Given the description of an element on the screen output the (x, y) to click on. 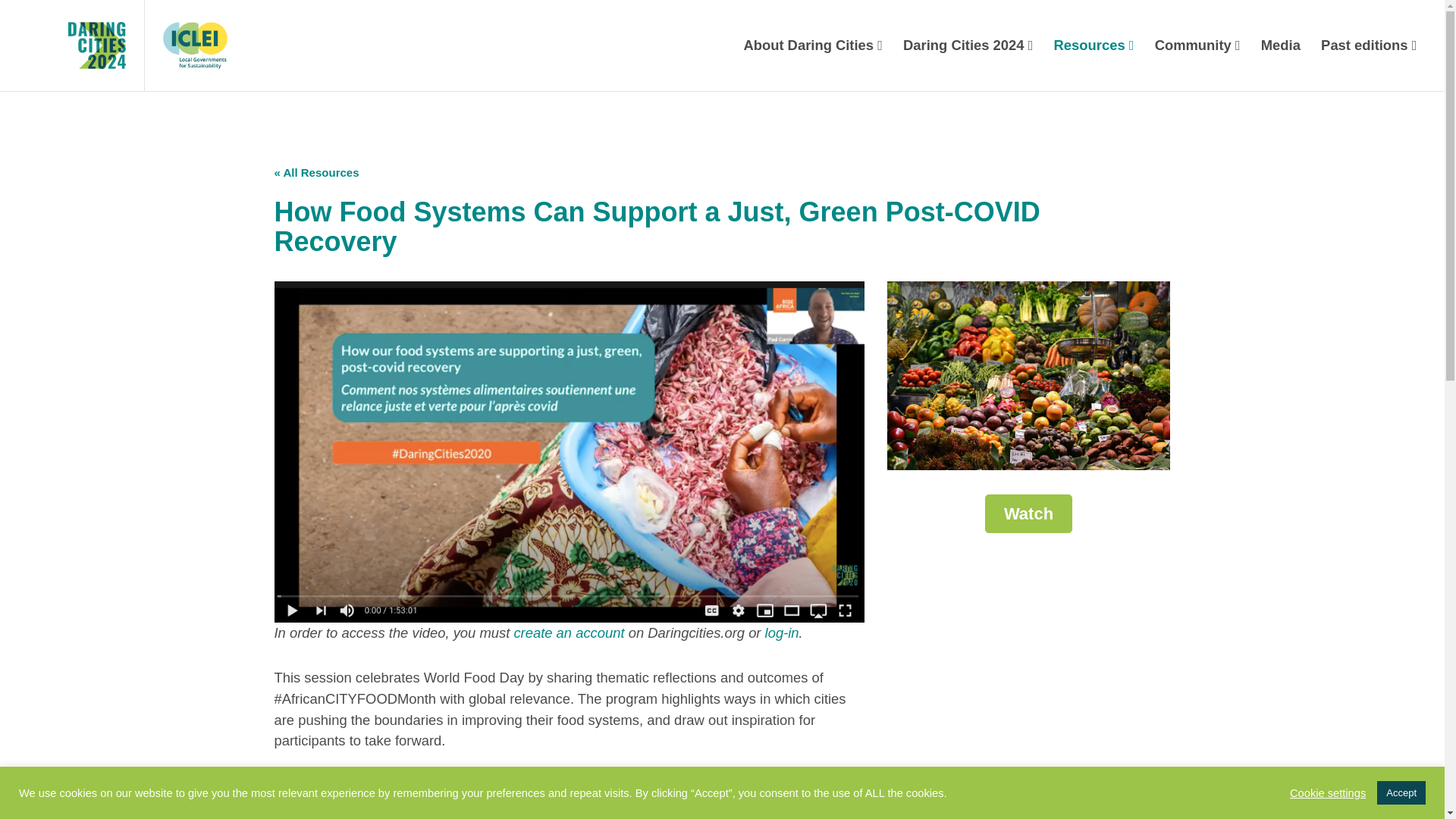
Watch (1028, 513)
Community (1197, 45)
About Daring Cities (813, 45)
Resources (1093, 45)
log-in (782, 632)
create an account (568, 632)
Resources (1093, 45)
Daring Cities (71, 45)
Daring Cities 2024 (967, 45)
About Daring Cities (813, 45)
